Given the description of an element on the screen output the (x, y) to click on. 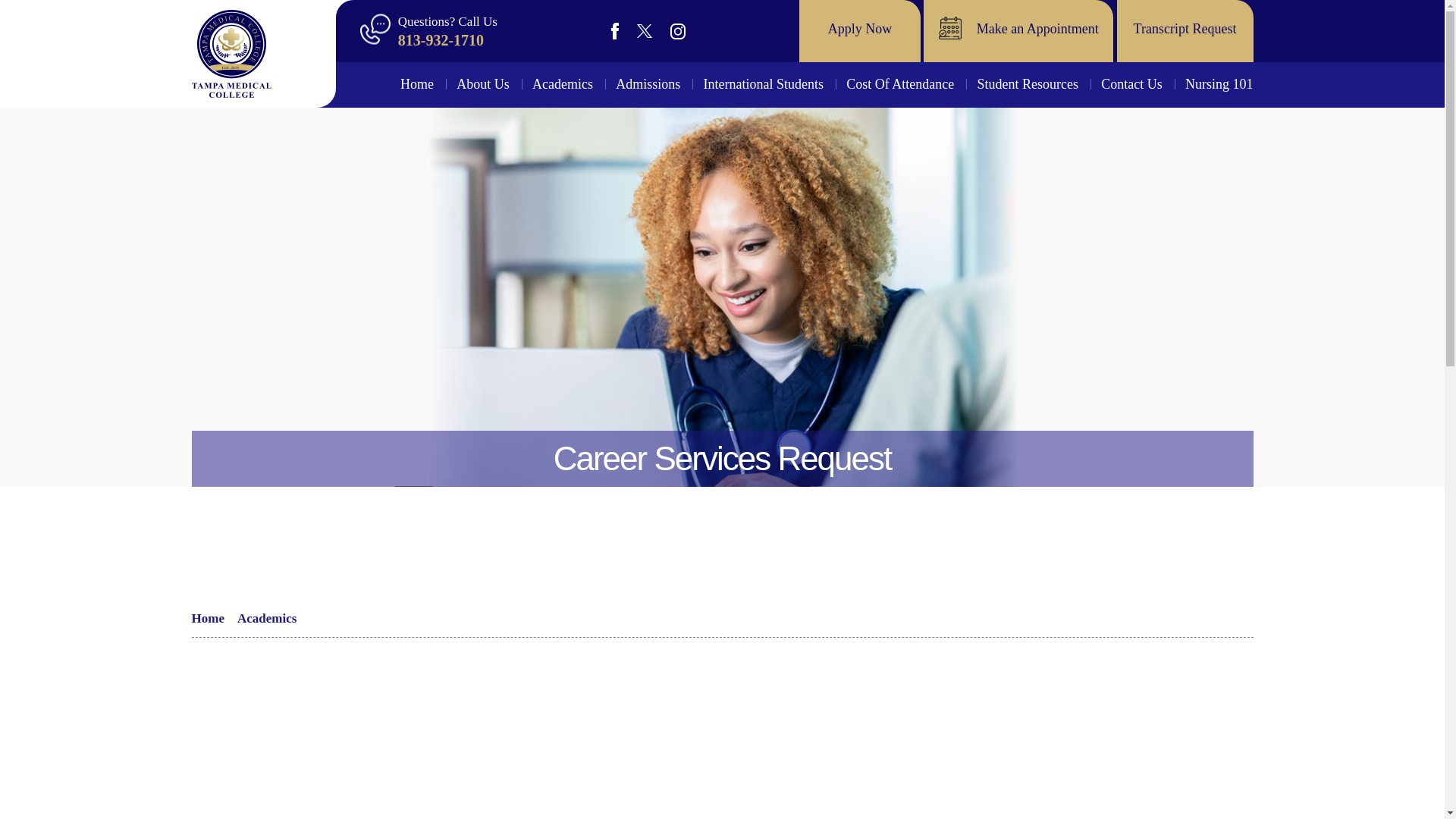
About Us (482, 84)
Admissions (647, 84)
Home (422, 84)
International Students (763, 84)
Make an Appointment (1018, 31)
Apply Now (859, 31)
Student Resources (1027, 84)
Academics (562, 84)
Transcript Request (1184, 31)
Cost Of Attendance (899, 84)
